Given the description of an element on the screen output the (x, y) to click on. 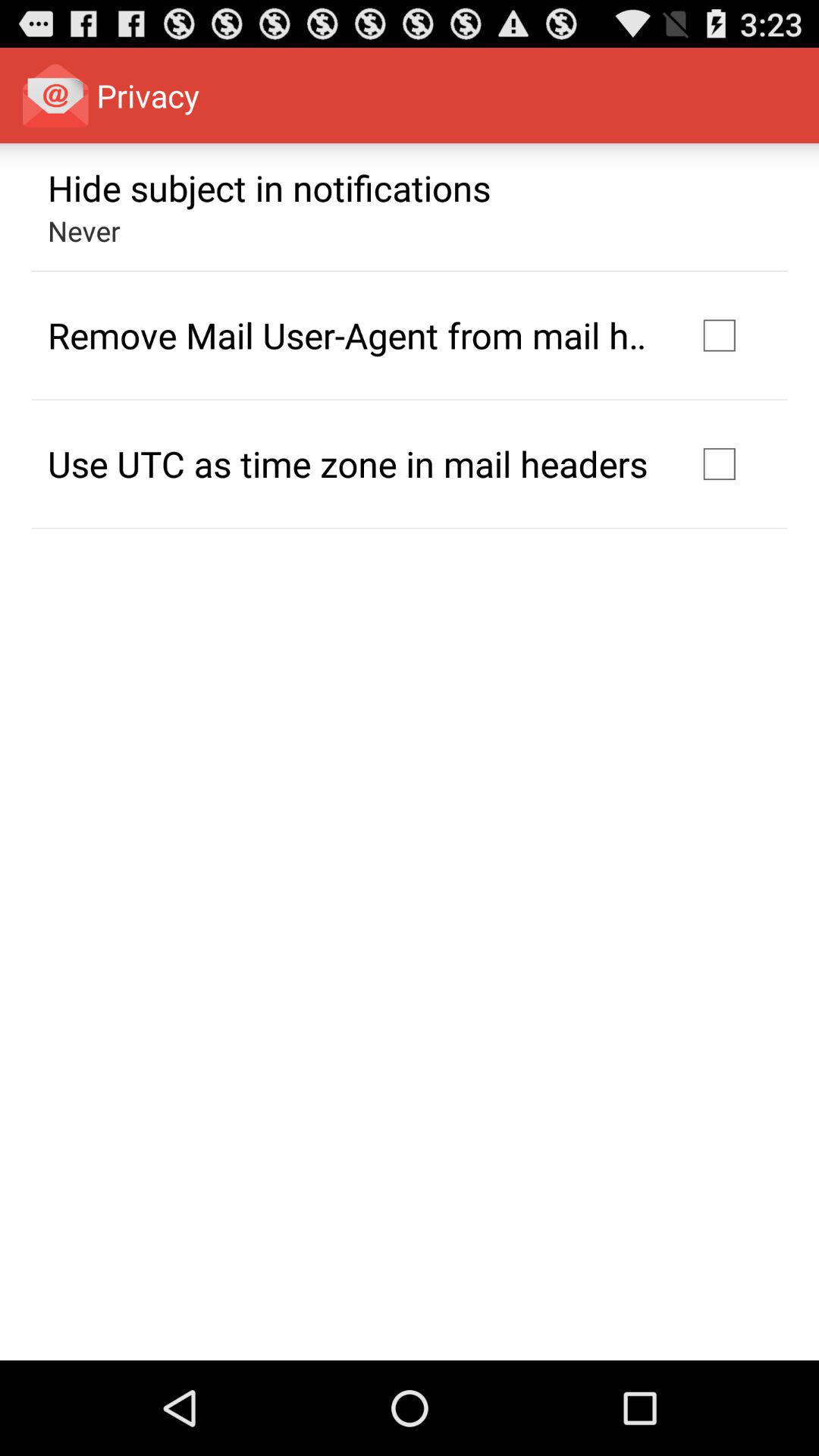
click icon below remove mail user item (347, 463)
